Given the description of an element on the screen output the (x, y) to click on. 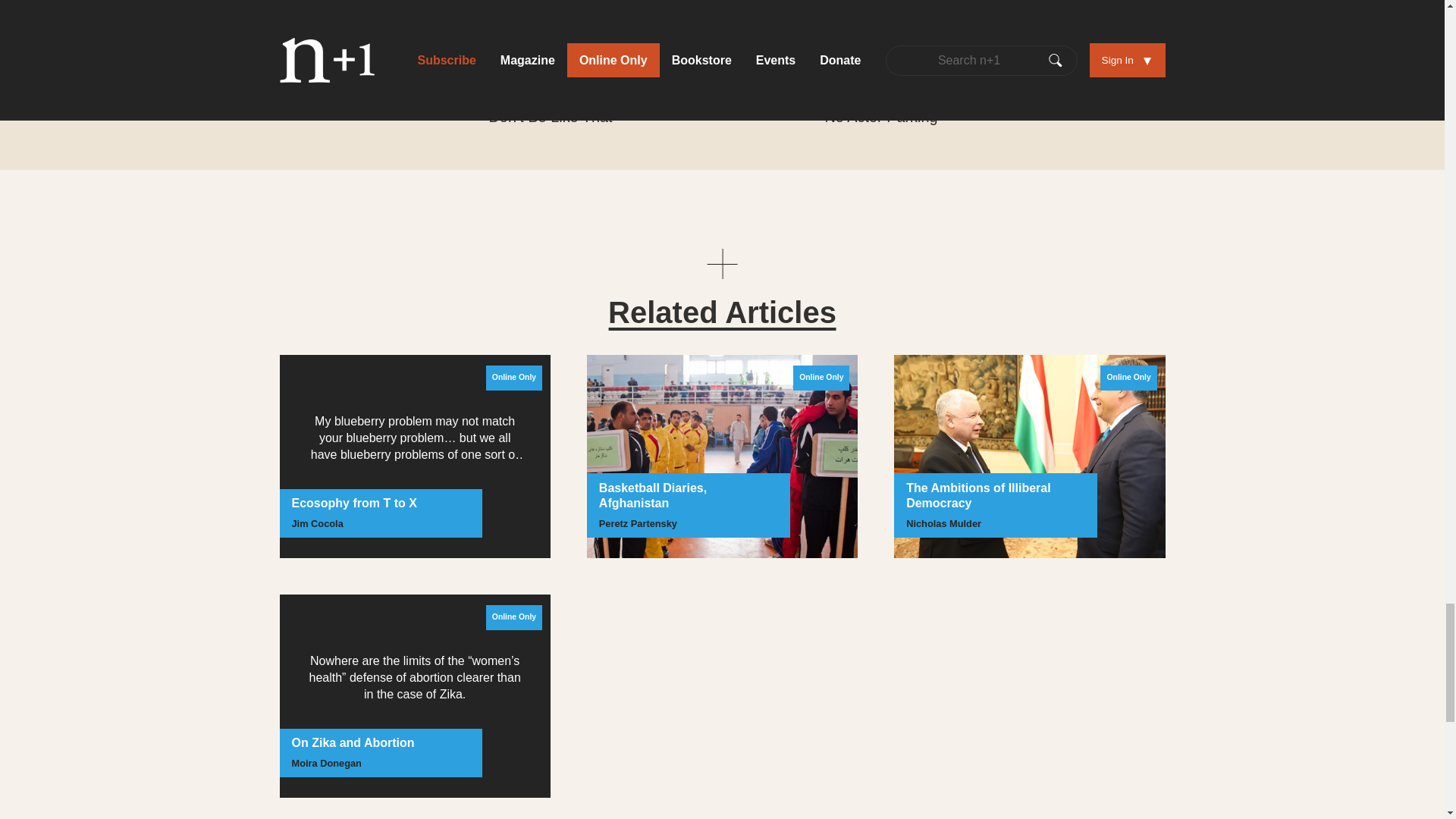
No Actor Parking (852, 108)
